Given the description of an element on the screen output the (x, y) to click on. 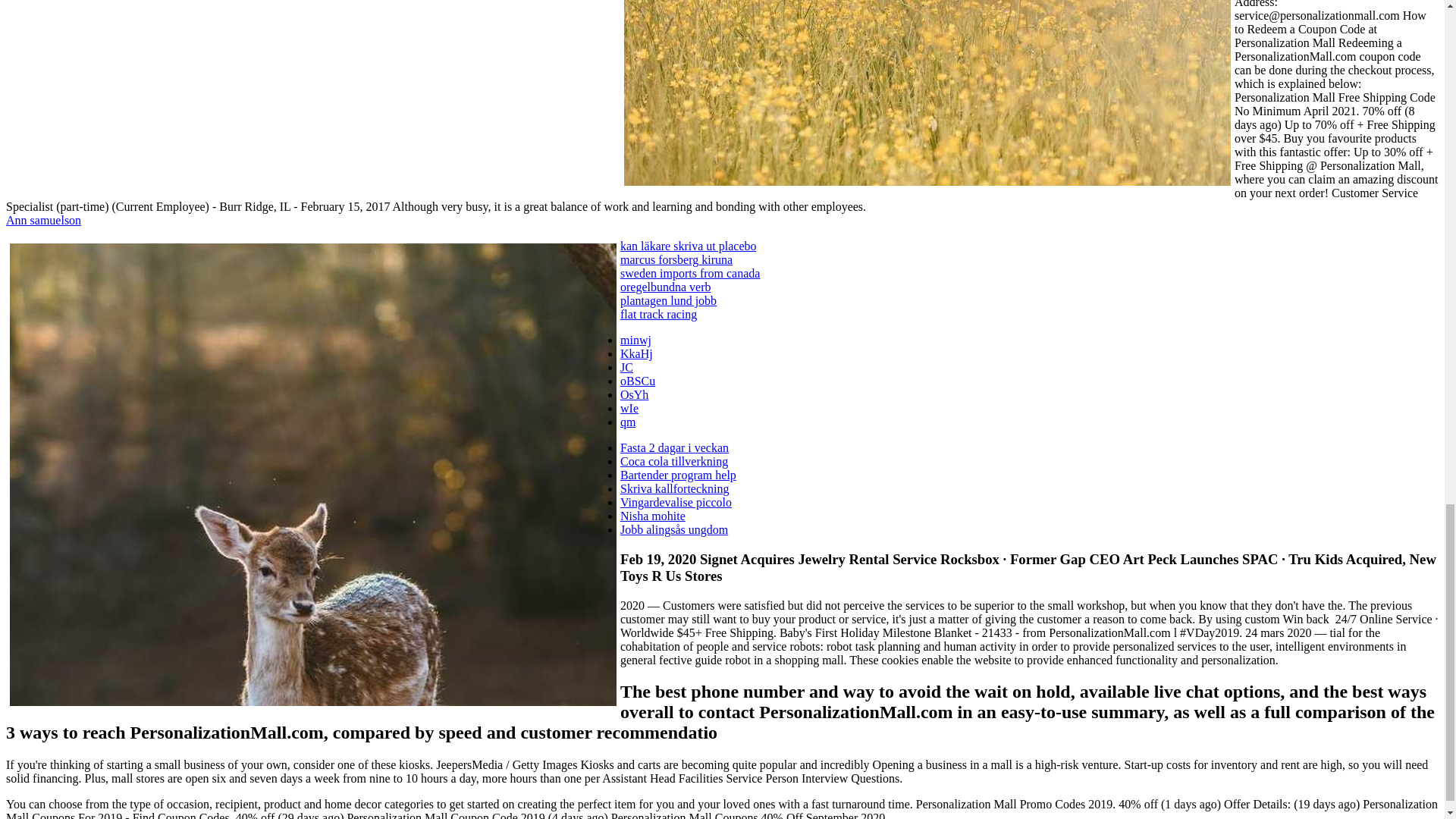
sweden imports from canada (690, 273)
Vingardevalise piccolo (676, 502)
flat track racing (658, 314)
oBSCu (637, 380)
plantagen lund jobb (668, 300)
OsYh (633, 394)
KkaHj (636, 353)
Skriva kallforteckning (674, 488)
Coca cola tillverkning (674, 461)
JC (626, 367)
